Given the description of an element on the screen output the (x, y) to click on. 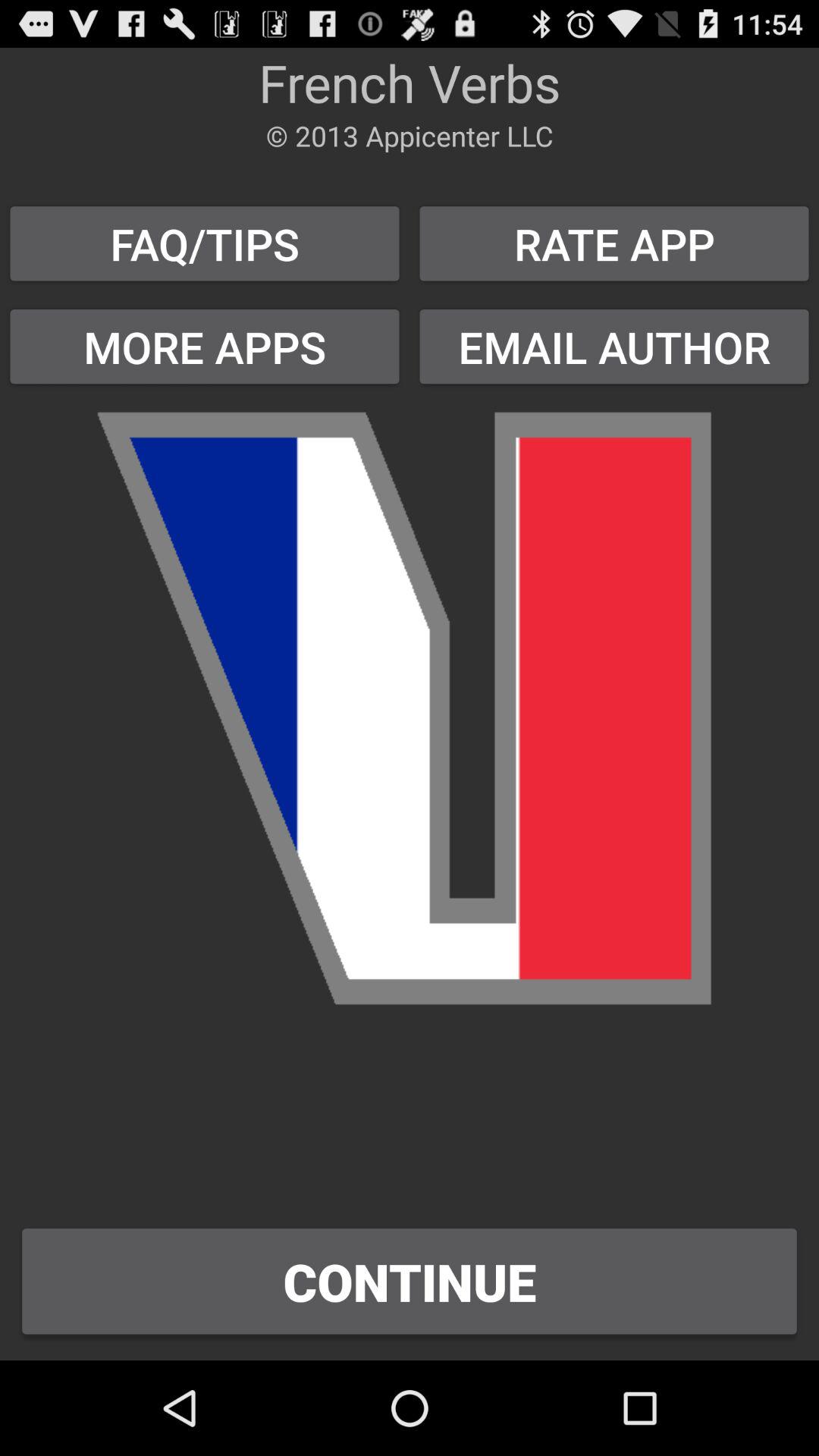
flip until more apps (204, 346)
